Given the description of an element on the screen output the (x, y) to click on. 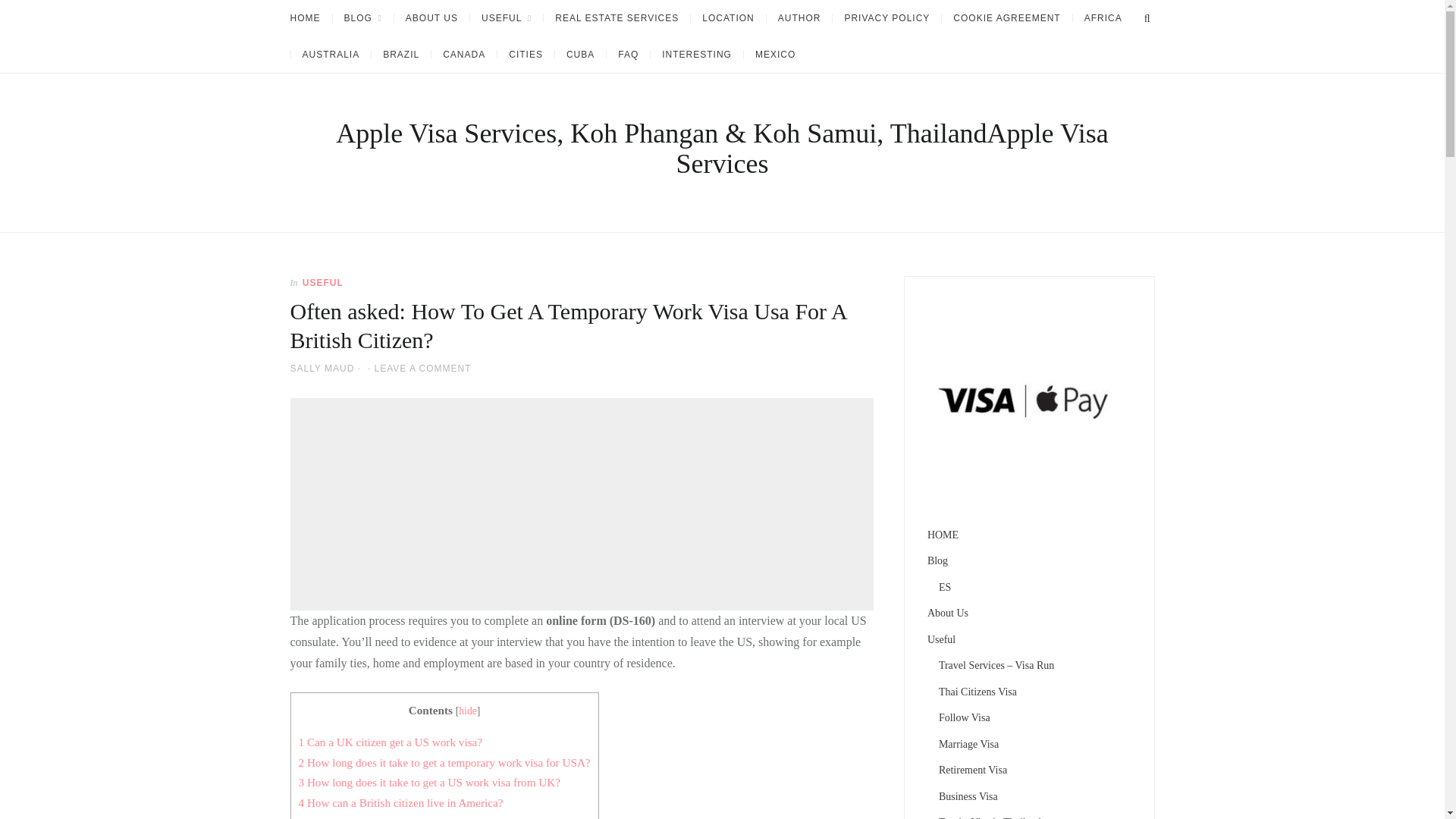
CUBA (579, 53)
1 Can a UK citizen get a US work visa? (390, 741)
CANADA (463, 53)
MEXICO (774, 53)
PRIVACY POLICY (885, 17)
REAL ESTATE SERVICES (616, 17)
USEFUL (322, 282)
3 How long does it take to get a US work visa from UK? (429, 781)
LOCATION (727, 17)
SALLY MAUD (321, 368)
AFRICA (1102, 17)
INTERESTING (695, 53)
CITIES (525, 53)
ABOUT US (430, 17)
